Given the description of an element on the screen output the (x, y) to click on. 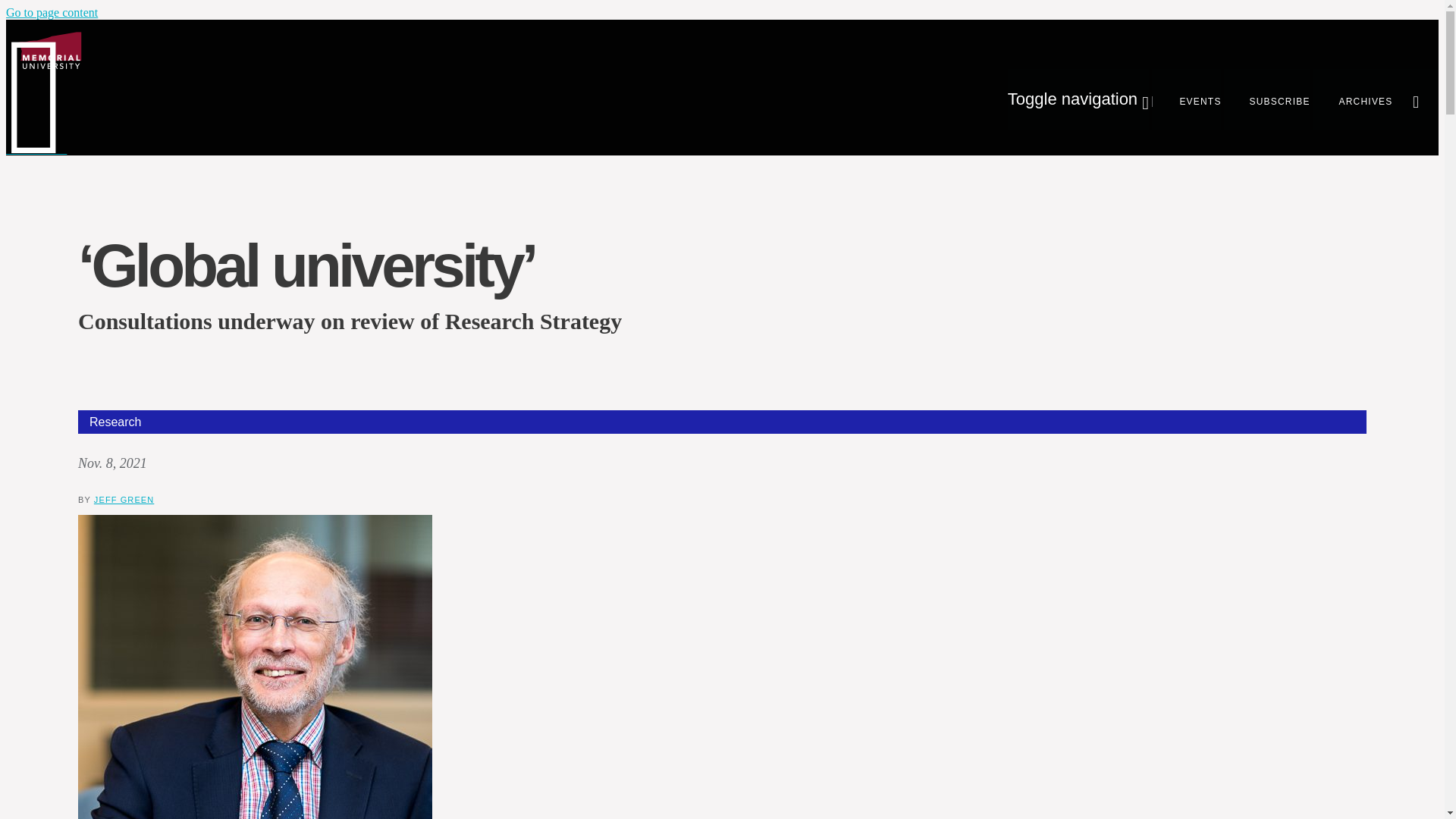
EVENTS (1186, 98)
ARCHIVES (1353, 98)
Toggle navigation (1077, 98)
JEFF GREEN (124, 499)
Go to page content (51, 11)
SUBSCRIBE (1267, 98)
